Given the description of an element on the screen output the (x, y) to click on. 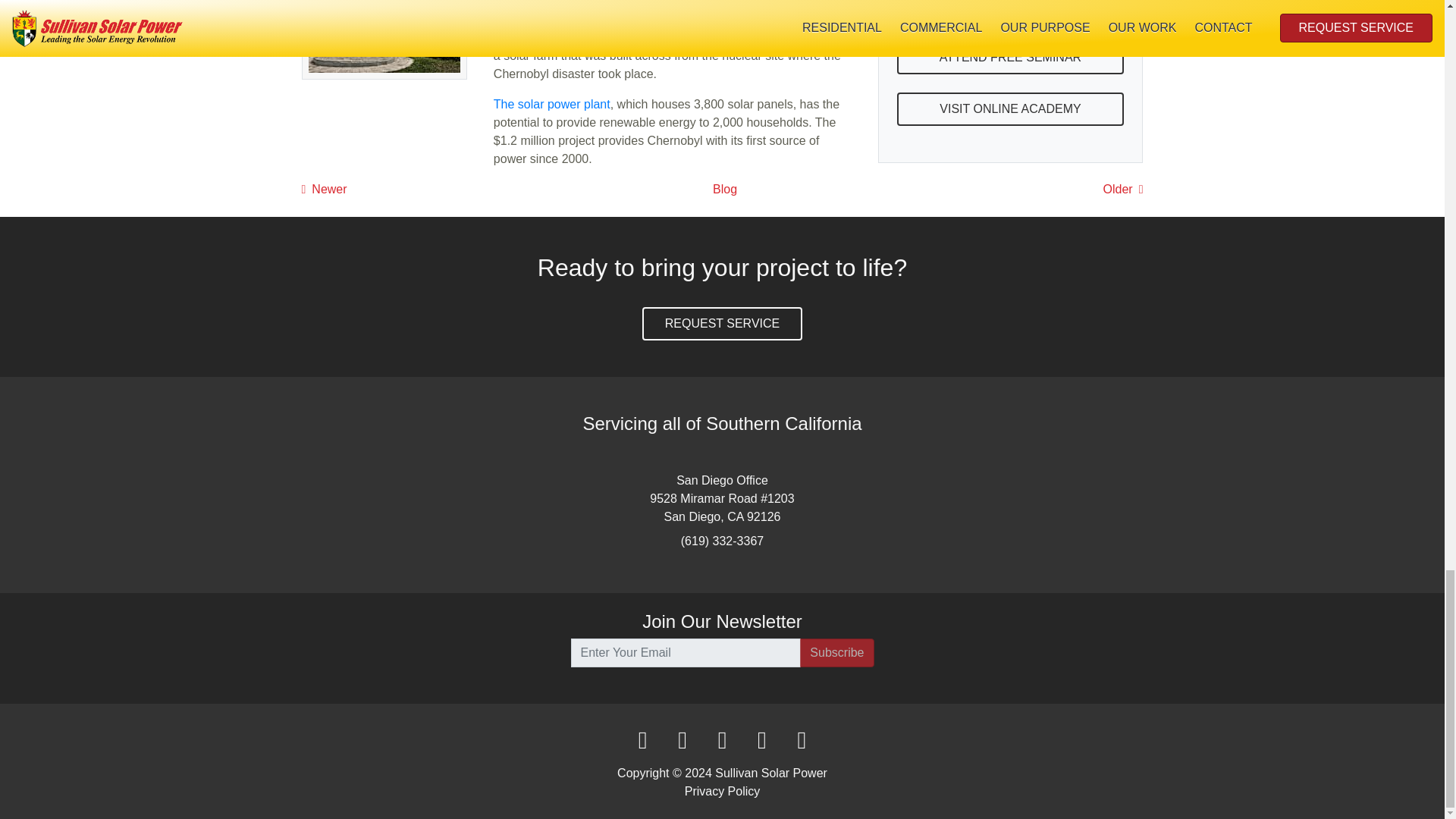
The solar power plant (551, 103)
